Given the description of an element on the screen output the (x, y) to click on. 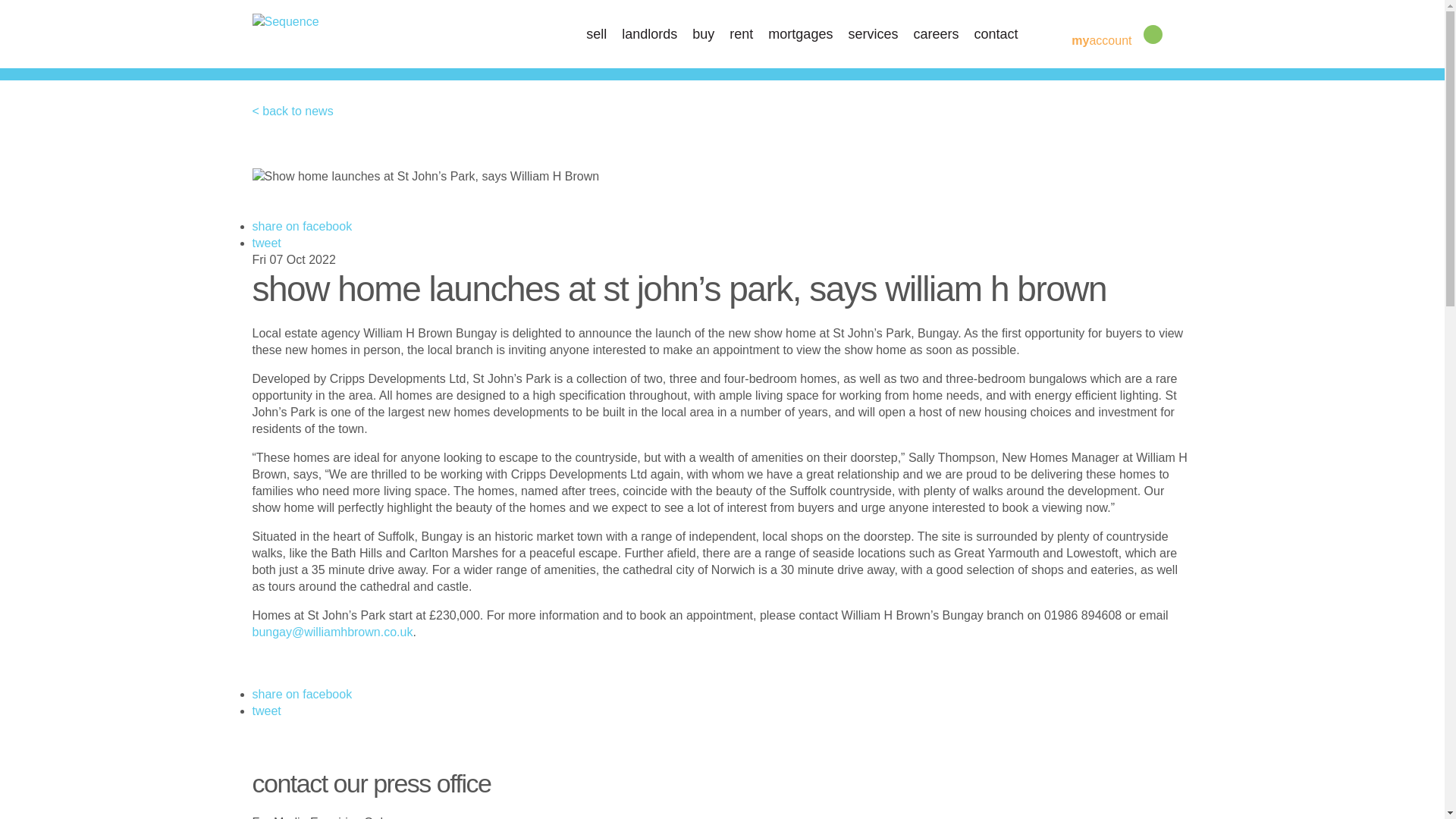
services (872, 33)
buy (703, 33)
Sequence (284, 21)
sell (596, 33)
rent (740, 33)
mortgages (800, 33)
contact (995, 33)
myaccount (1088, 39)
landlords (649, 33)
careers (935, 33)
